Given the description of an element on the screen output the (x, y) to click on. 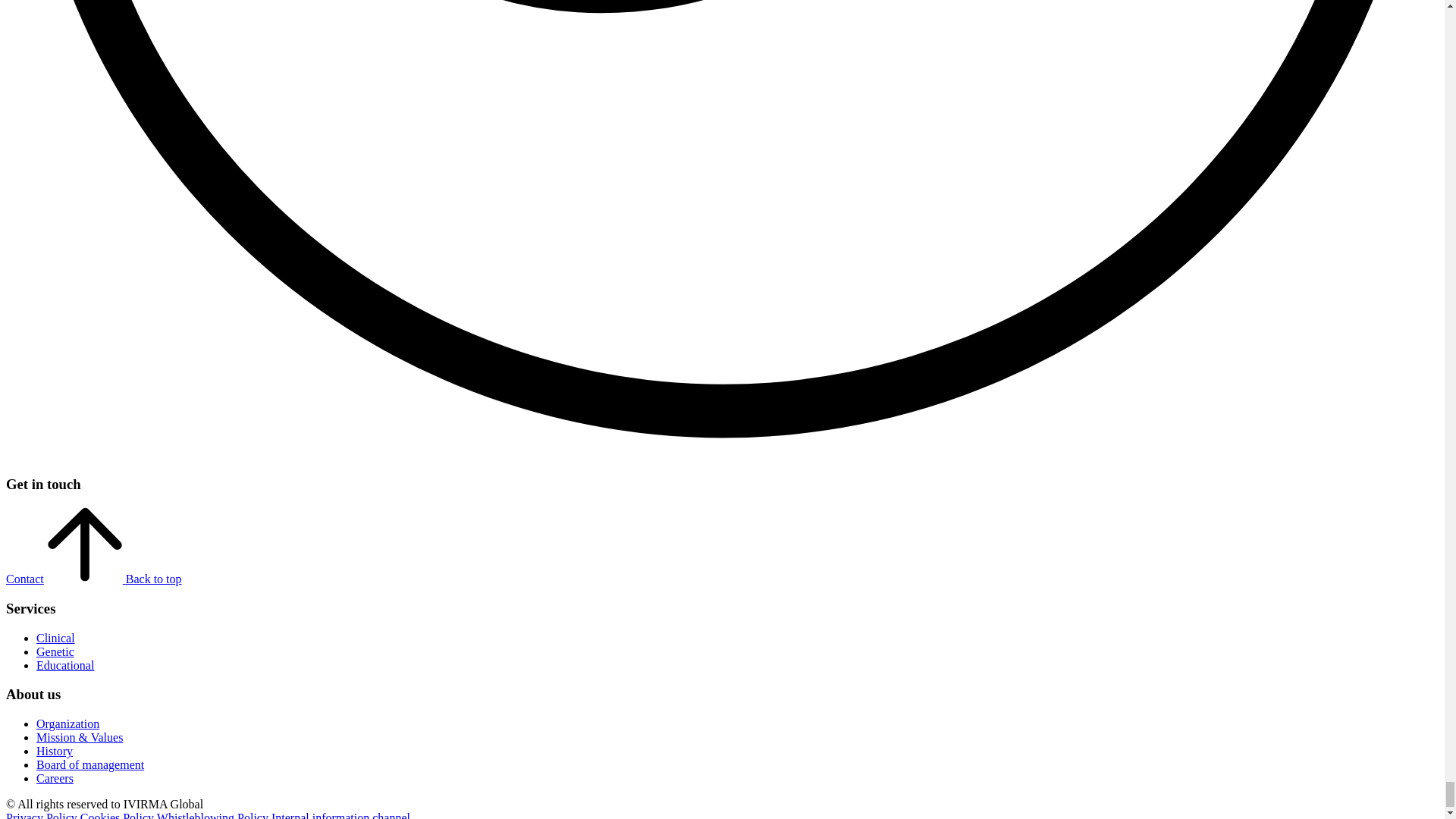
Careers (55, 778)
Educational (65, 665)
backtotop Back to top (114, 578)
Organization (67, 723)
Board of management (90, 764)
backtotop Back to top (114, 578)
Clinical (55, 637)
backtotop (84, 544)
Contact (24, 578)
History (54, 750)
Genetic (55, 651)
